Given the description of an element on the screen output the (x, y) to click on. 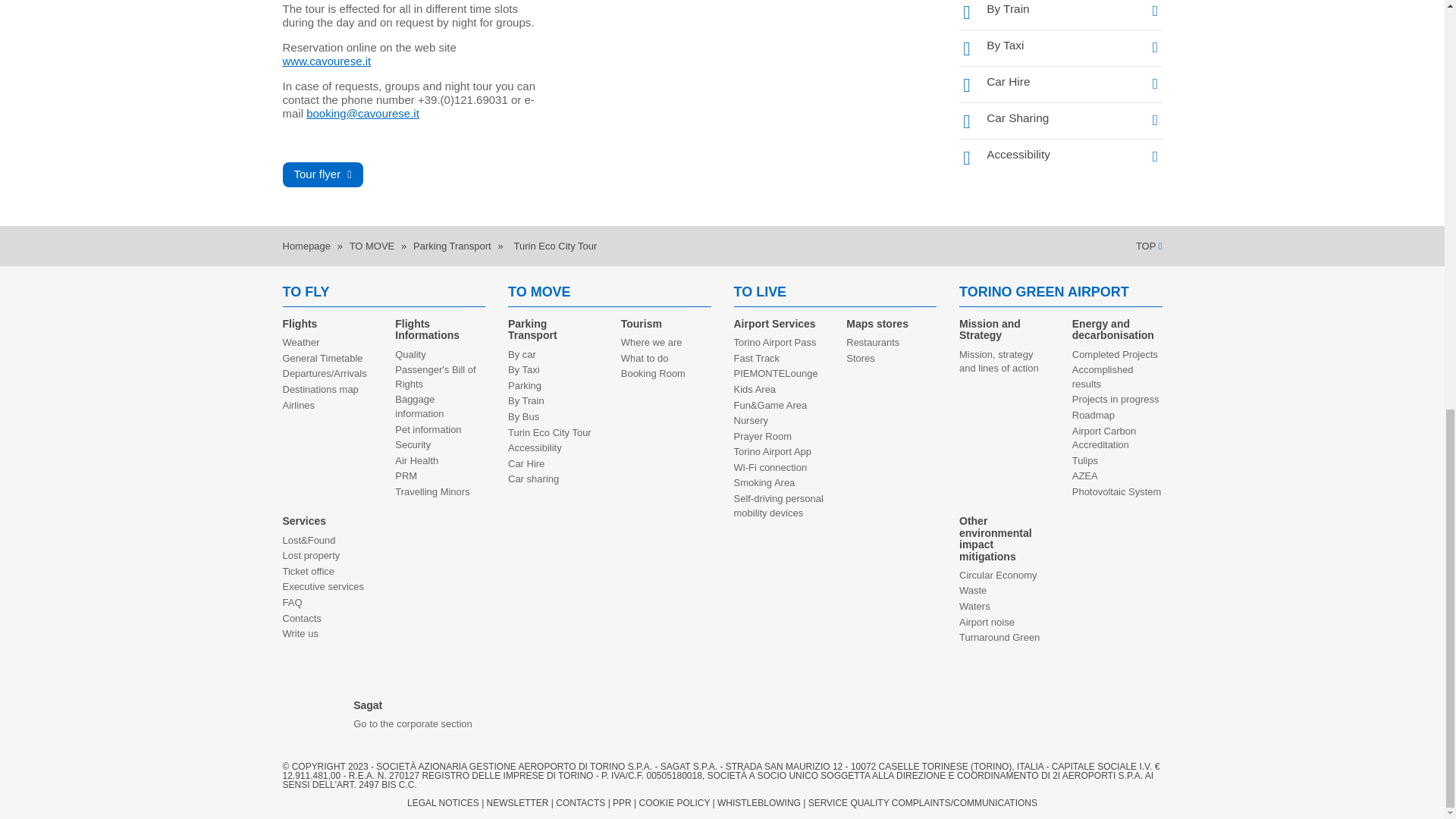
TOP (1148, 245)
PPR (621, 802)
Whistleblowing (758, 802)
SAGAT (418, 724)
